Given the description of an element on the screen output the (x, y) to click on. 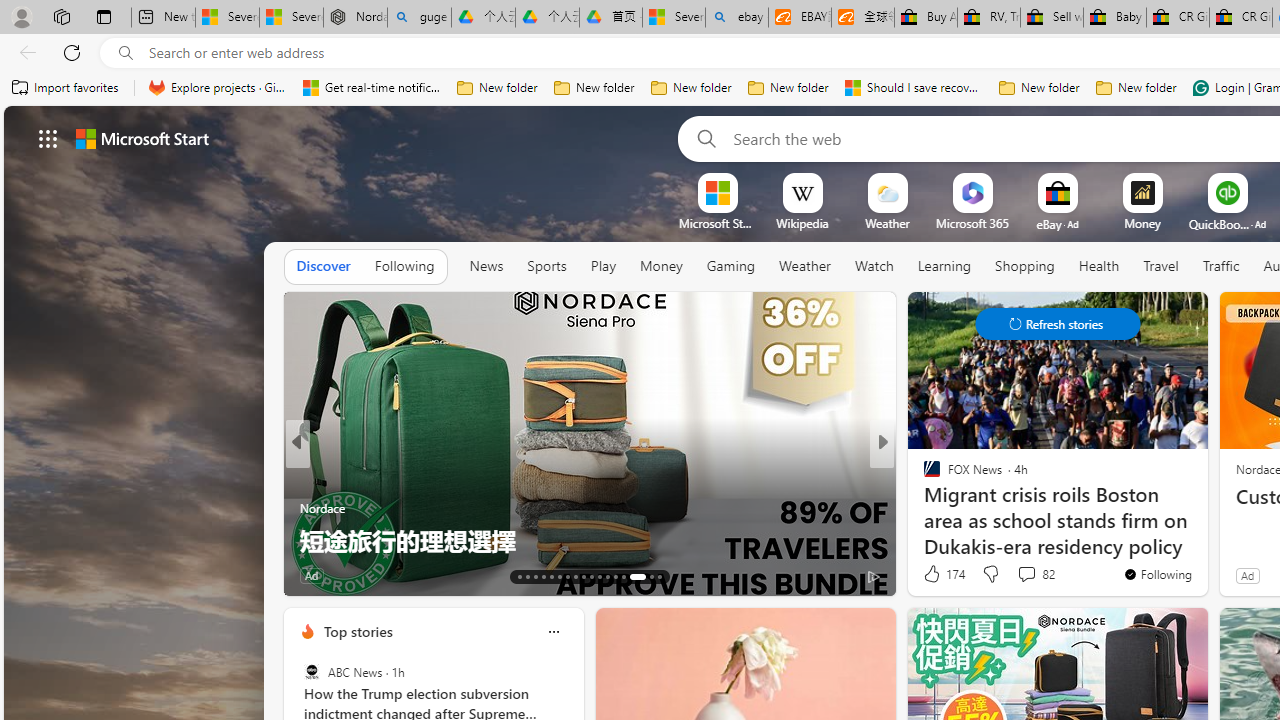
ebay - Search (736, 17)
Travel (1160, 267)
News (485, 267)
News (486, 265)
Hide this story (227, 315)
Microsoft Start Sports (717, 223)
View comments 82 Comment (1026, 573)
Komando (307, 507)
Gaming (730, 265)
AutomationID: tab-16 (542, 576)
Watch (874, 267)
AutomationID: tab-24 (606, 576)
Class: control (1057, 323)
